Given the description of an element on the screen output the (x, y) to click on. 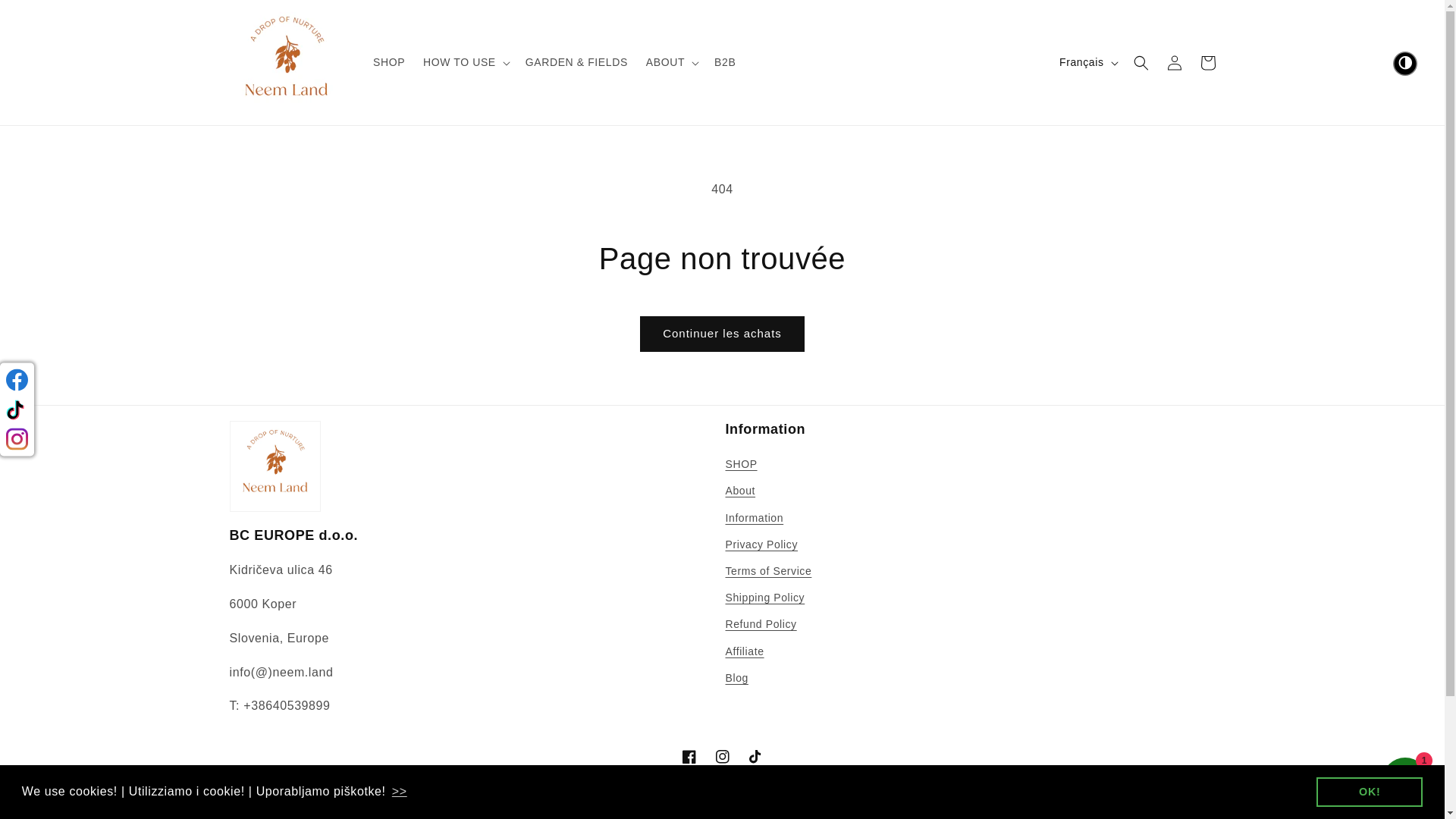
Ignorer et passer au contenu (45, 17)
OK! (1369, 791)
Chat de la boutique en ligne Shopify (1404, 781)
